Given the description of an element on the screen output the (x, y) to click on. 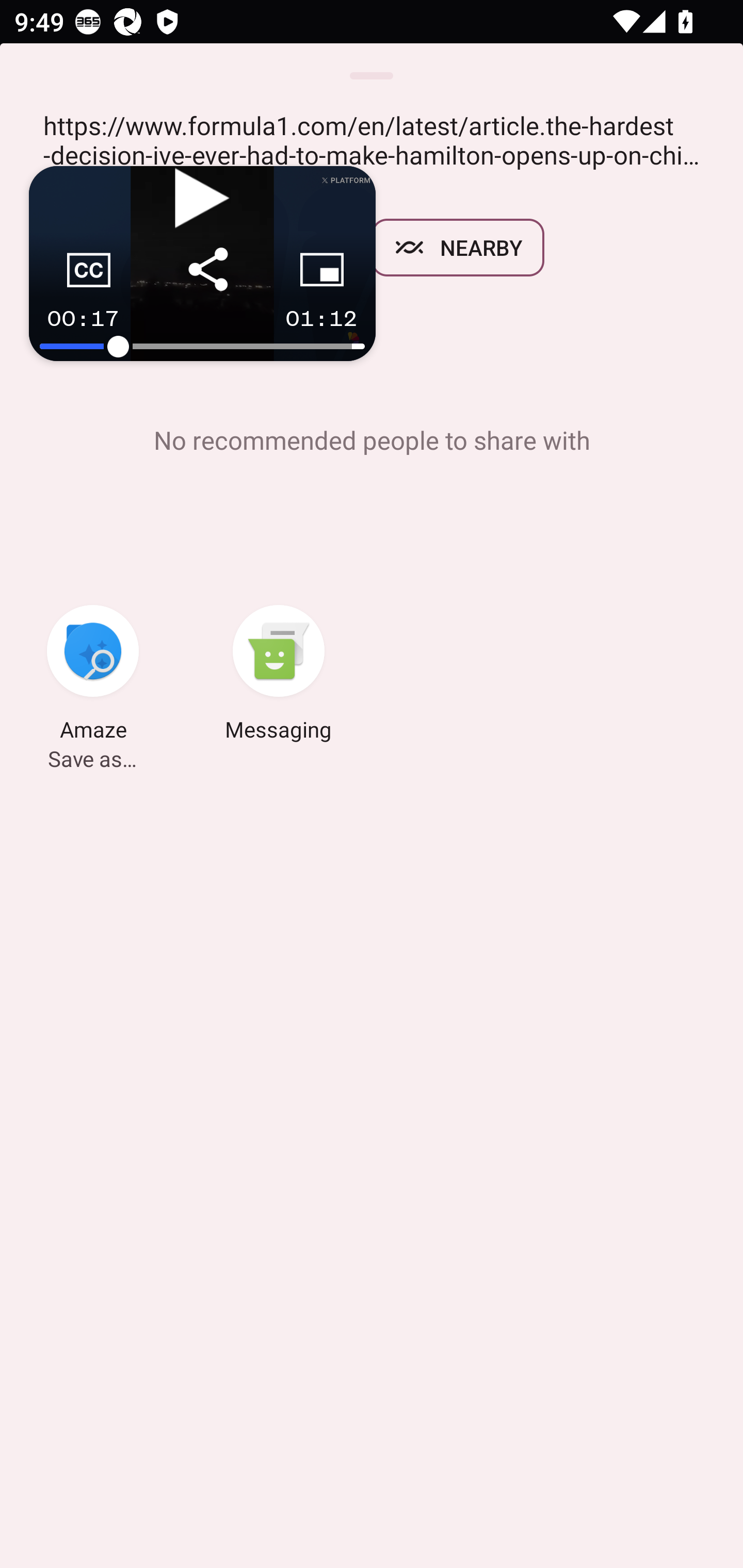
NEARBY (457, 247)
Amaze Save as… (92, 675)
Messaging (278, 675)
